Given the description of an element on the screen output the (x, y) to click on. 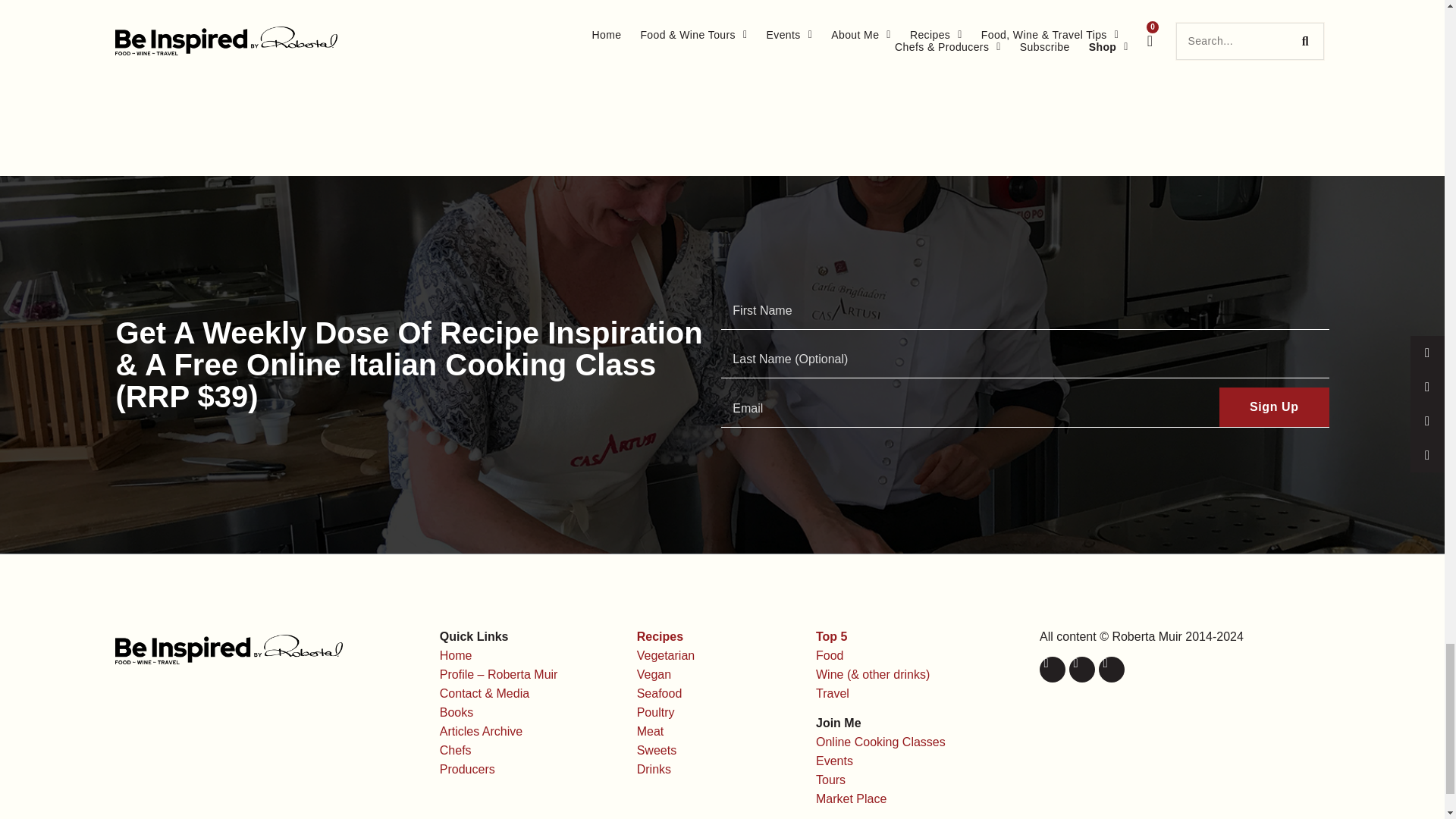
Sign up (1274, 407)
